Given the description of an element on the screen output the (x, y) to click on. 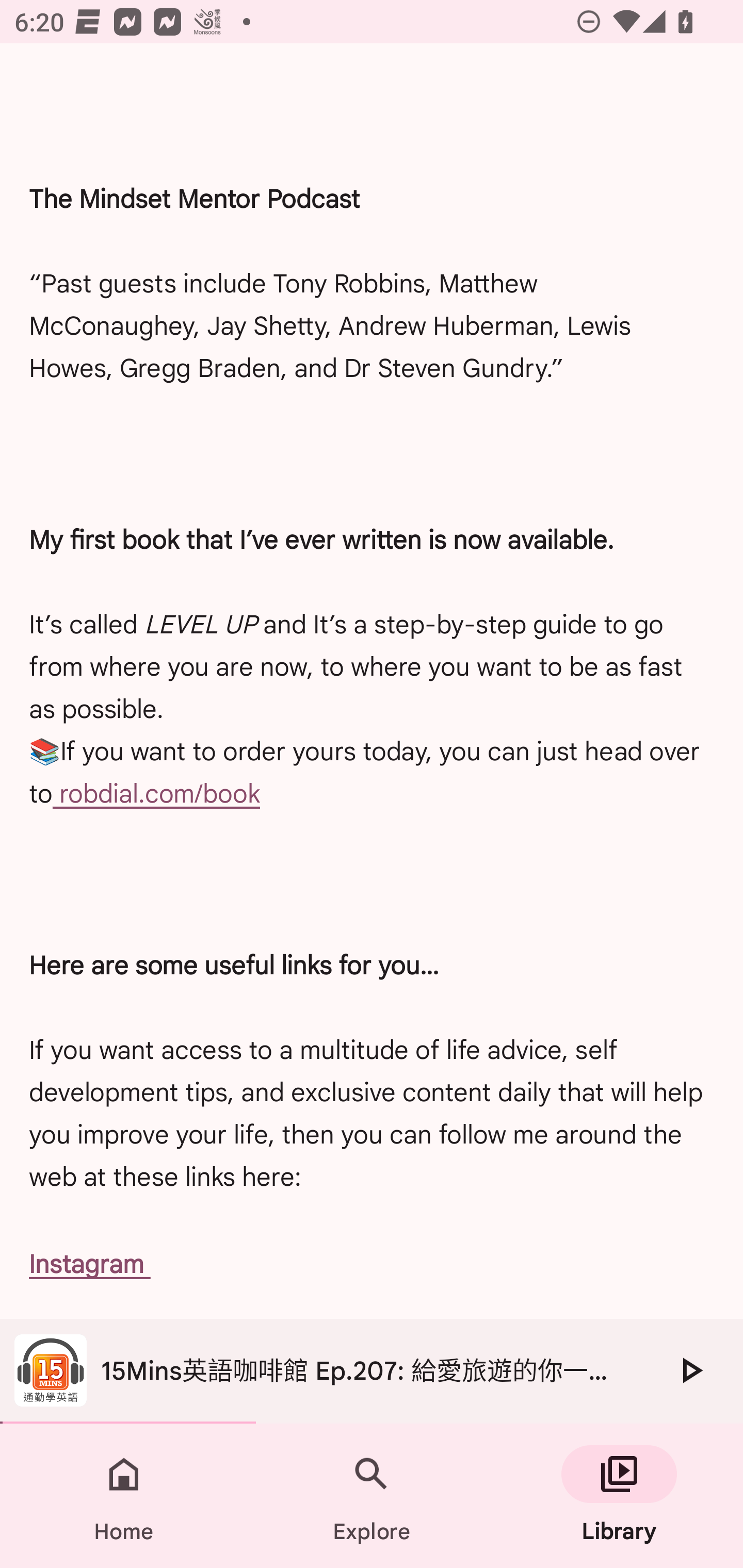
Play (690, 1370)
Home (123, 1495)
Explore (371, 1495)
